Given the description of an element on the screen output the (x, y) to click on. 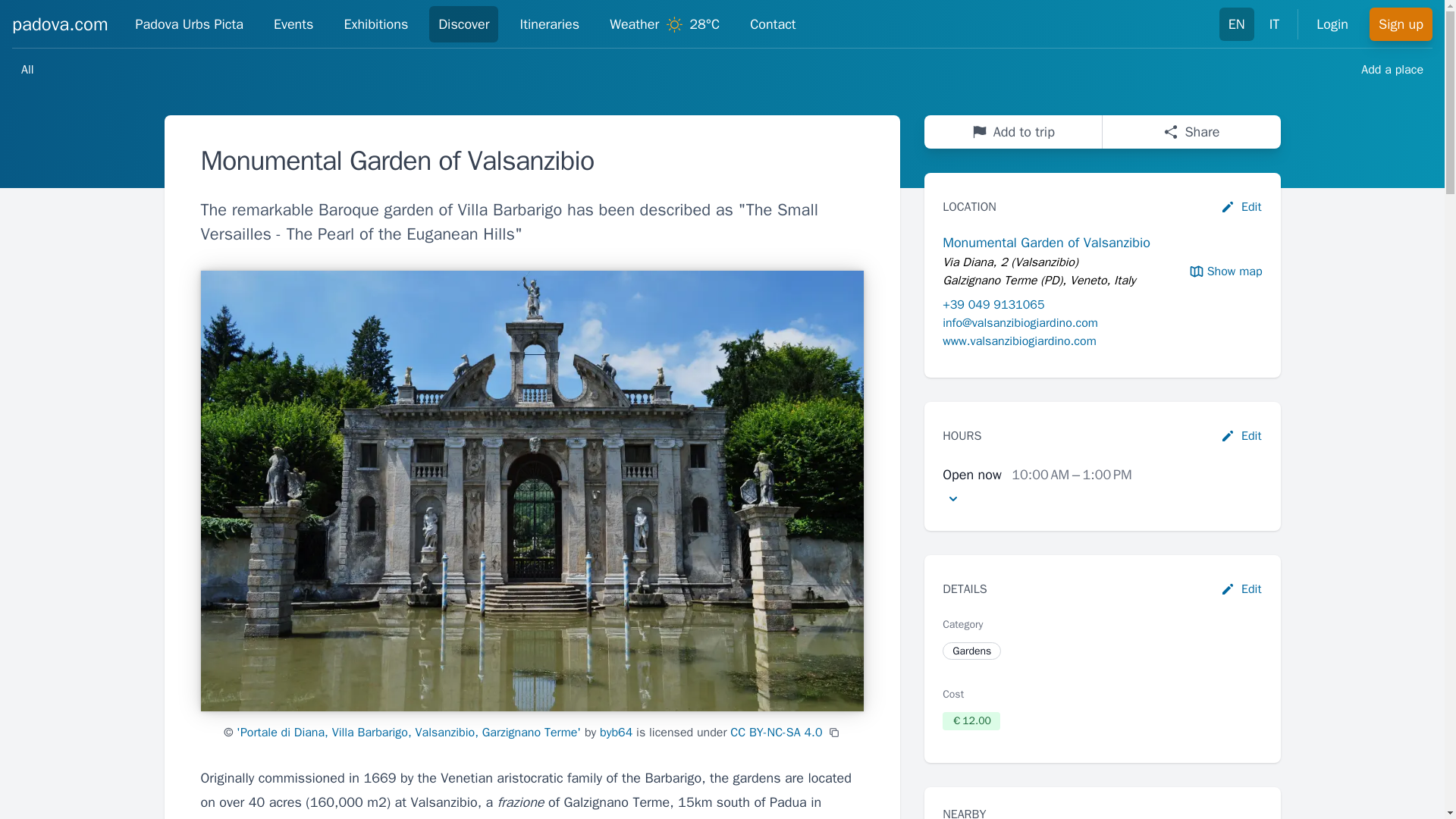
Sign up (1401, 23)
Itineraries (549, 23)
Padova Urbs Picta (188, 23)
EN (1236, 23)
All (27, 69)
Login (1331, 23)
Discover (463, 23)
Contact (773, 23)
padova.com (59, 24)
Events (293, 23)
Exhibitions (375, 23)
CC BY-NC-SA 4.0 (776, 732)
byb64 (615, 732)
Add a place (1392, 69)
